Given the description of an element on the screen output the (x, y) to click on. 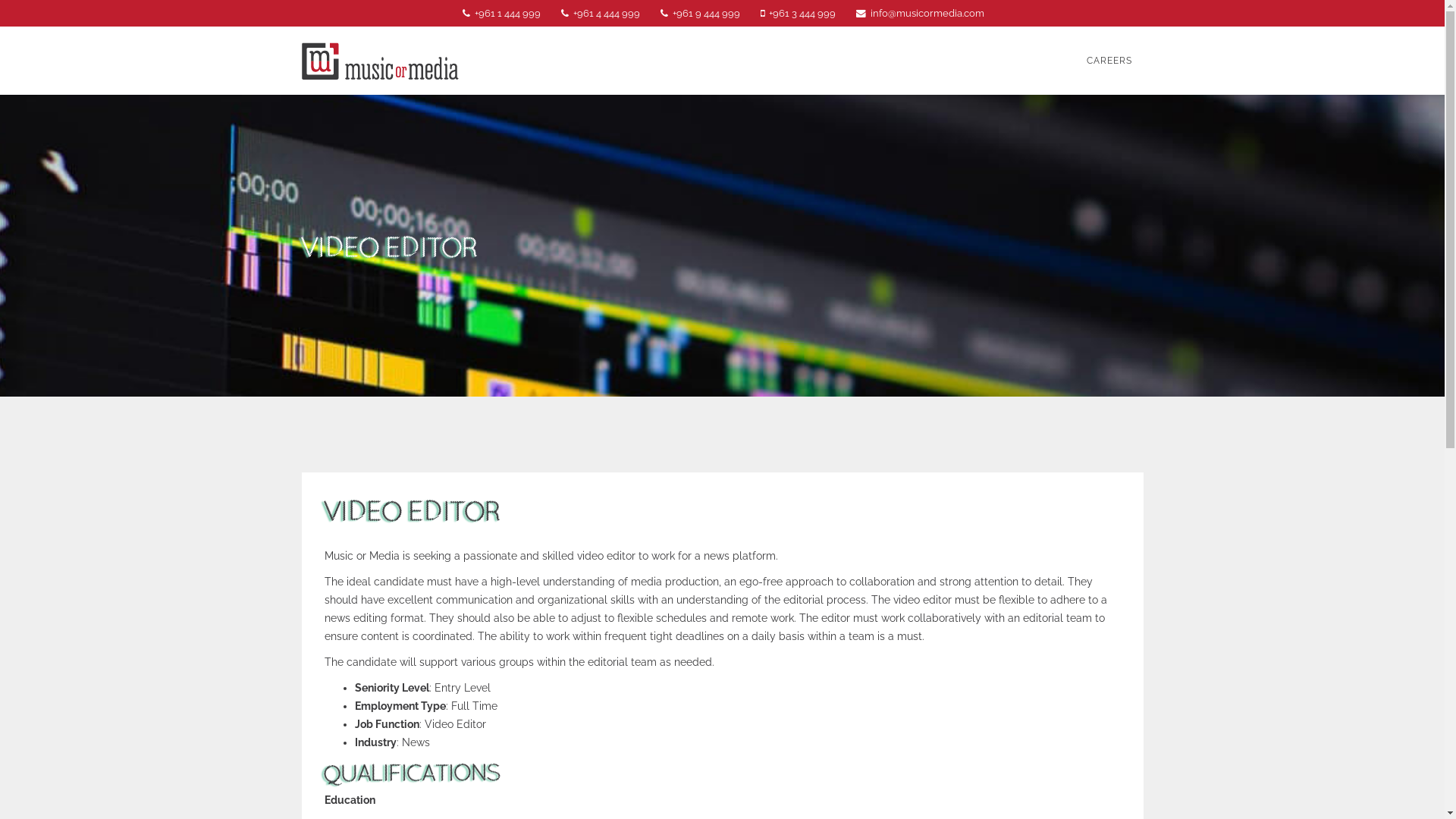
+961 3 444 999 Element type: text (801, 12)
CAREERS Element type: text (1109, 60)
+961 1 444 999 Element type: text (507, 12)
+961 9 444 999 Element type: text (706, 12)
+961 4 444 999 Element type: text (606, 12)
info@musicormedia.com Element type: text (927, 12)
